Given the description of an element on the screen output the (x, y) to click on. 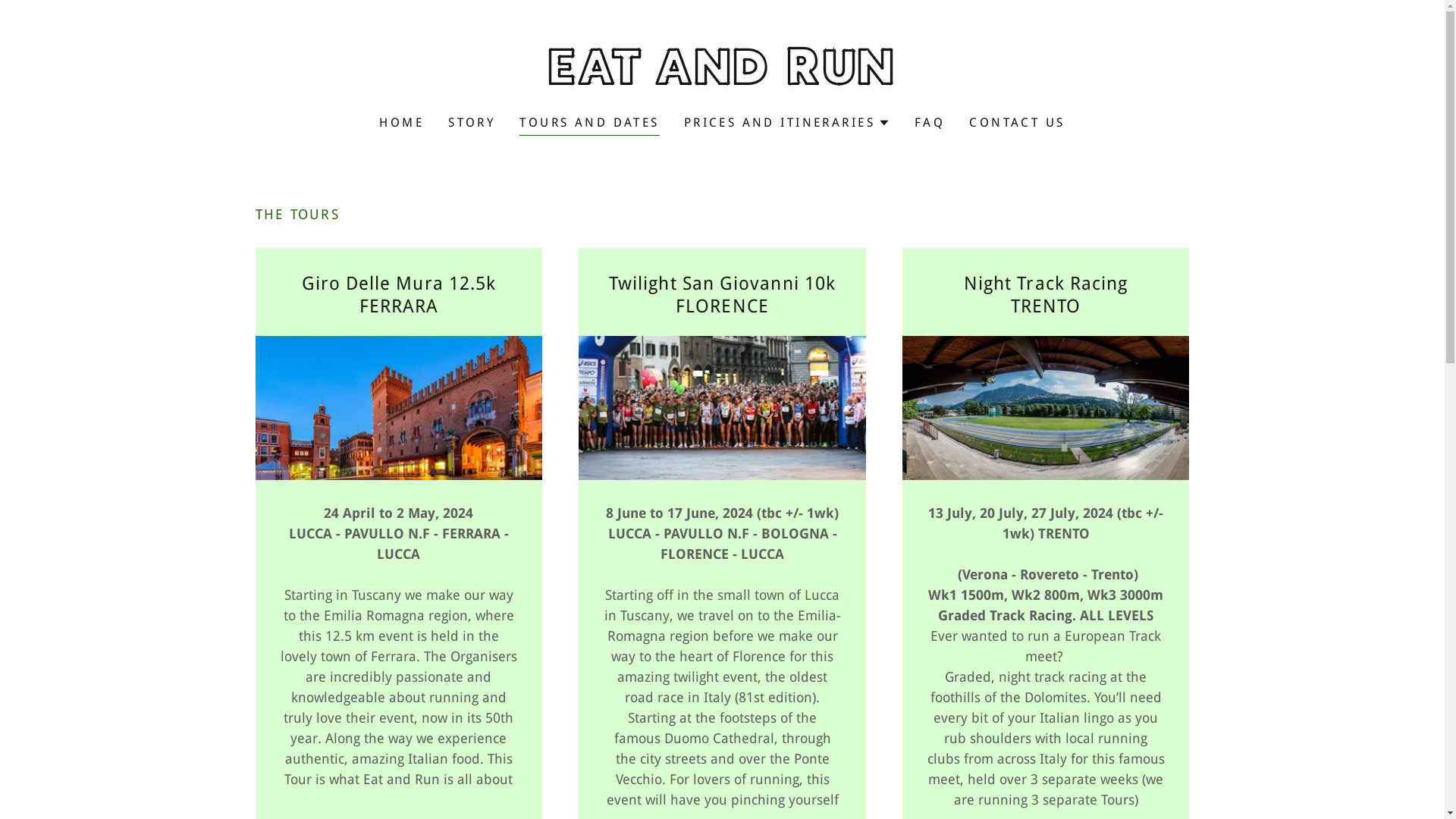
HOME Element type: text (401, 122)
TOURS AND DATES Element type: text (588, 124)
FAQ Element type: text (929, 122)
CONTACT US Element type: text (1016, 122)
EAT AND RUN Element type: text (722, 79)
PRICES AND ITINERARIES Element type: text (787, 122)
STORY Element type: text (471, 122)
